Given the description of an element on the screen output the (x, y) to click on. 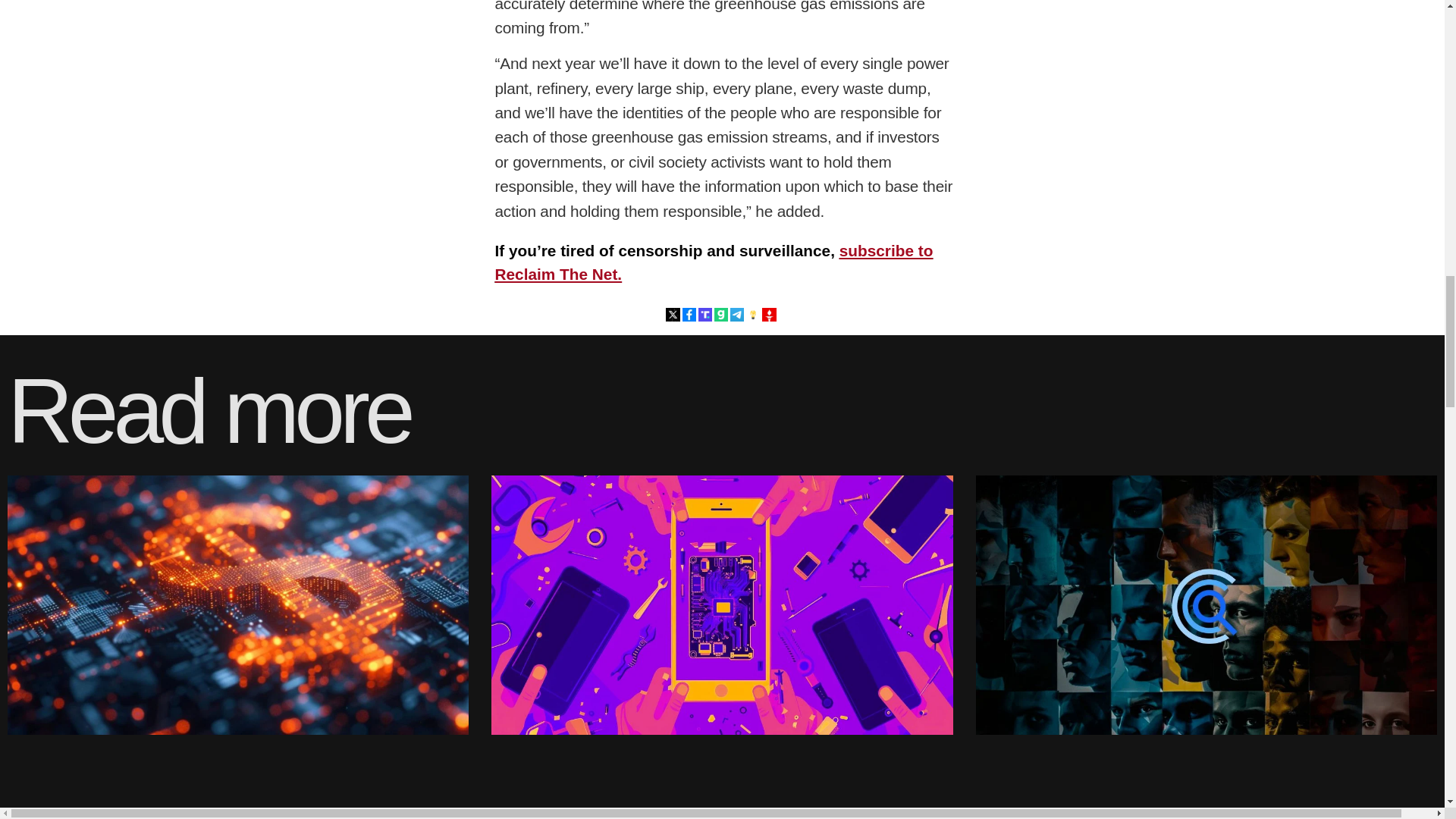
subscribe to Reclaim The Net. (714, 261)
